Given the description of an element on the screen output the (x, y) to click on. 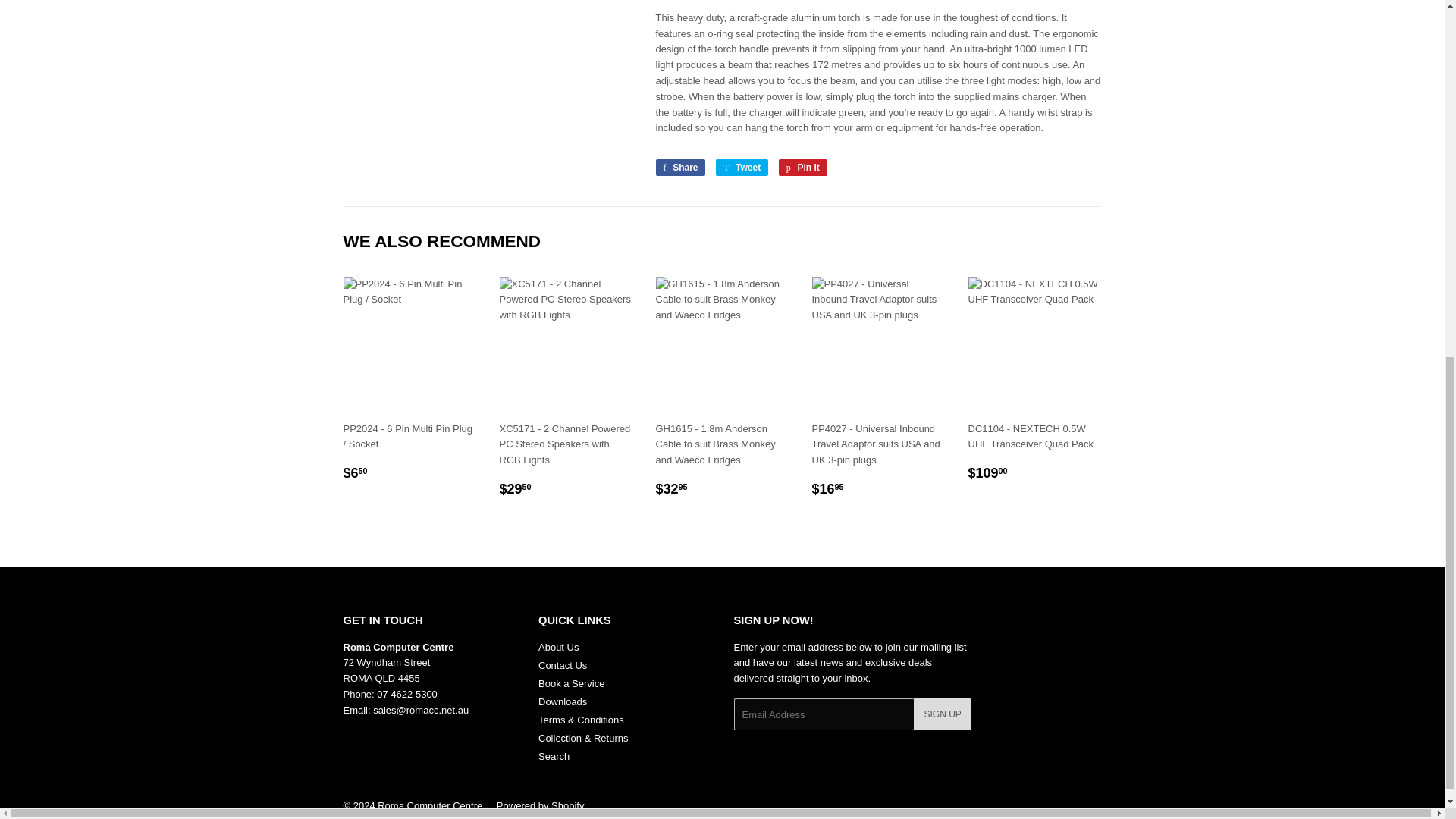
Share on Facebook (679, 167)
Pin on Pinterest (802, 167)
Tweet on Twitter (742, 167)
